Given the description of an element on the screen output the (x, y) to click on. 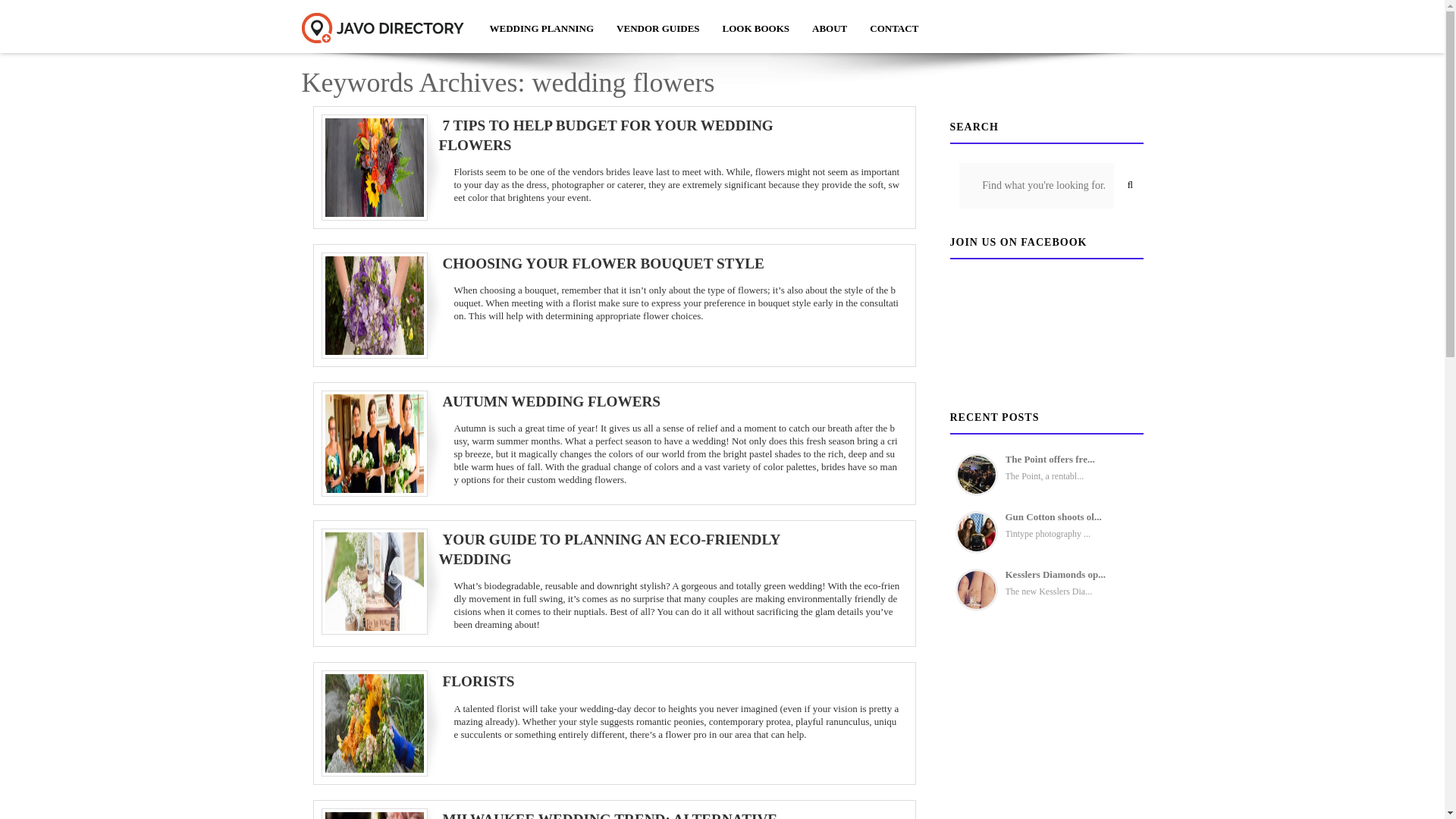
LOOK BOOKS (756, 28)
YOUR GUIDE TO PLANNING AN ECO-FRIENDLY WEDDING (608, 549)
WEDDING PLANNING (541, 28)
7 TIPS TO HELP BUDGET FOR YOUR WEDDING FLOWERS (605, 135)
Look books (756, 28)
ABOUT (829, 28)
AUTUMN WEDDING FLOWERS (548, 401)
MILWAUKEE WEDDING TREND: ALTERNATIVE BOUQUETS (607, 815)
CONTACT (894, 28)
VENDOR GUIDES (657, 28)
FLORISTS (475, 681)
Vendor guides (657, 28)
About (829, 28)
